Given the description of an element on the screen output the (x, y) to click on. 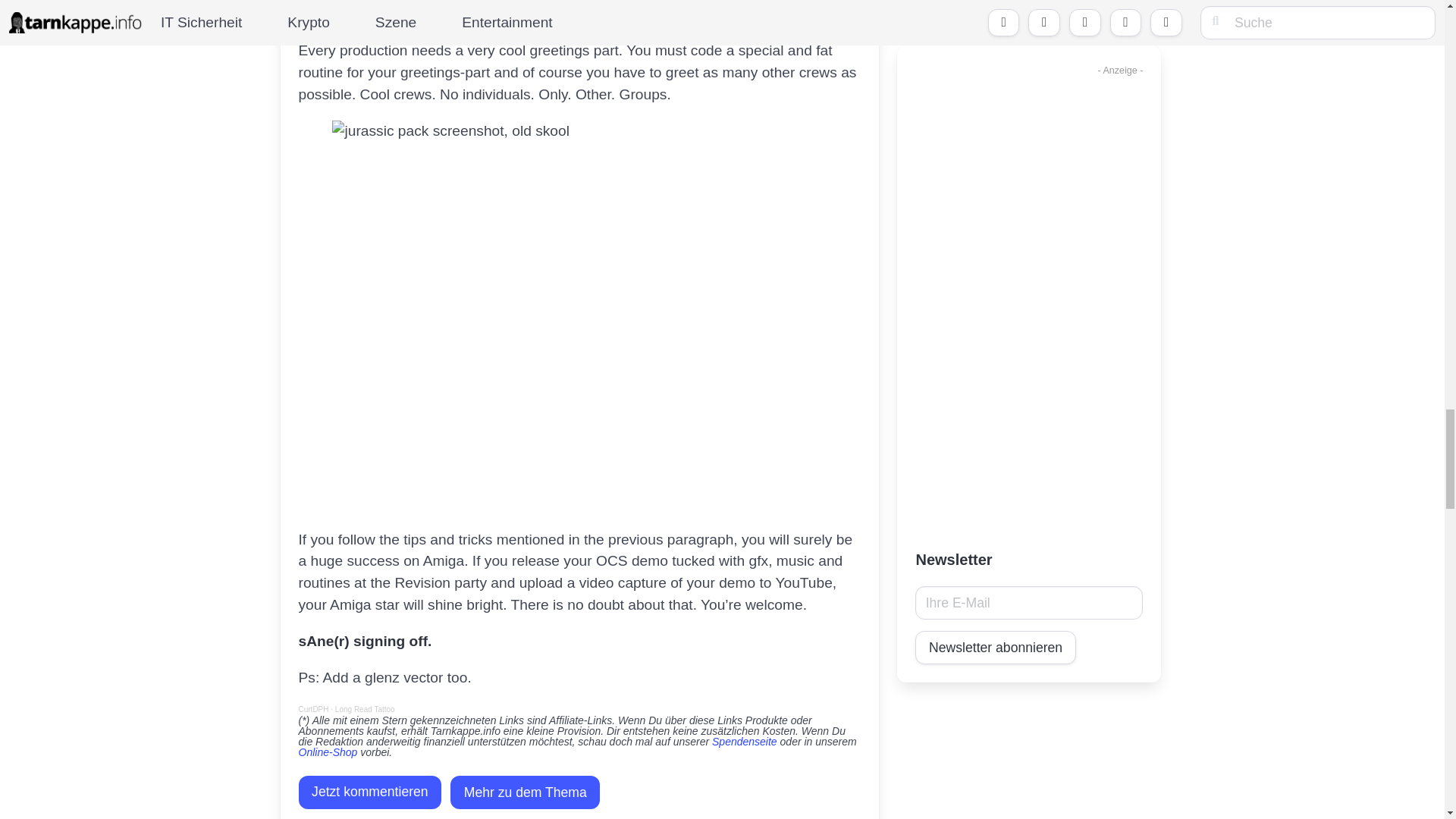
Jetzt kommentieren (370, 792)
CurtDPH (313, 709)
Spendenseite (744, 741)
Online-Shop von Tarnkappe.info - Tarnkappe.info (328, 752)
Online-Shop (328, 752)
Long Read Tattoo (364, 709)
Spenden an Tarnkappe.info - Tarnkappe.info (744, 741)
CurtDPH (313, 709)
Long Read Tattoo (364, 709)
